Given the description of an element on the screen output the (x, y) to click on. 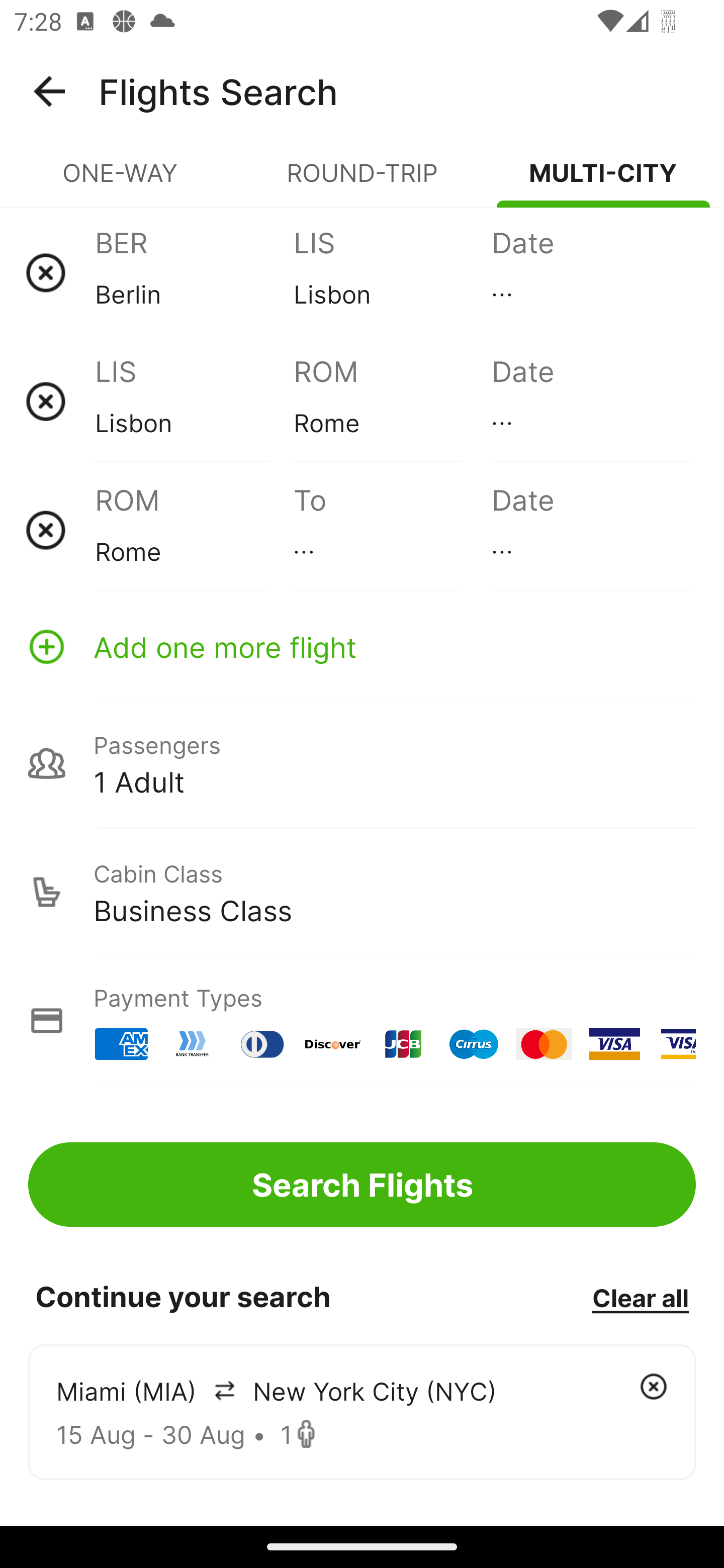
ONE-WAY (120, 180)
ROUND-TRIP (361, 180)
MULTI-CITY (603, 180)
BER Berlin (193, 272)
LIS Lisbon (392, 272)
Date ⋯ (590, 272)
LIS Lisbon (193, 401)
ROM Rome (392, 401)
Date ⋯ (590, 401)
ROM Rome (193, 529)
To ⋯ (392, 529)
Date ⋯ (590, 529)
Add one more flight (362, 646)
Passengers 1 Adult (362, 762)
Cabin Class Business Class (362, 891)
Payment Types (362, 1020)
Search Flights (361, 1184)
Clear all (640, 1297)
